Given the description of an element on the screen output the (x, y) to click on. 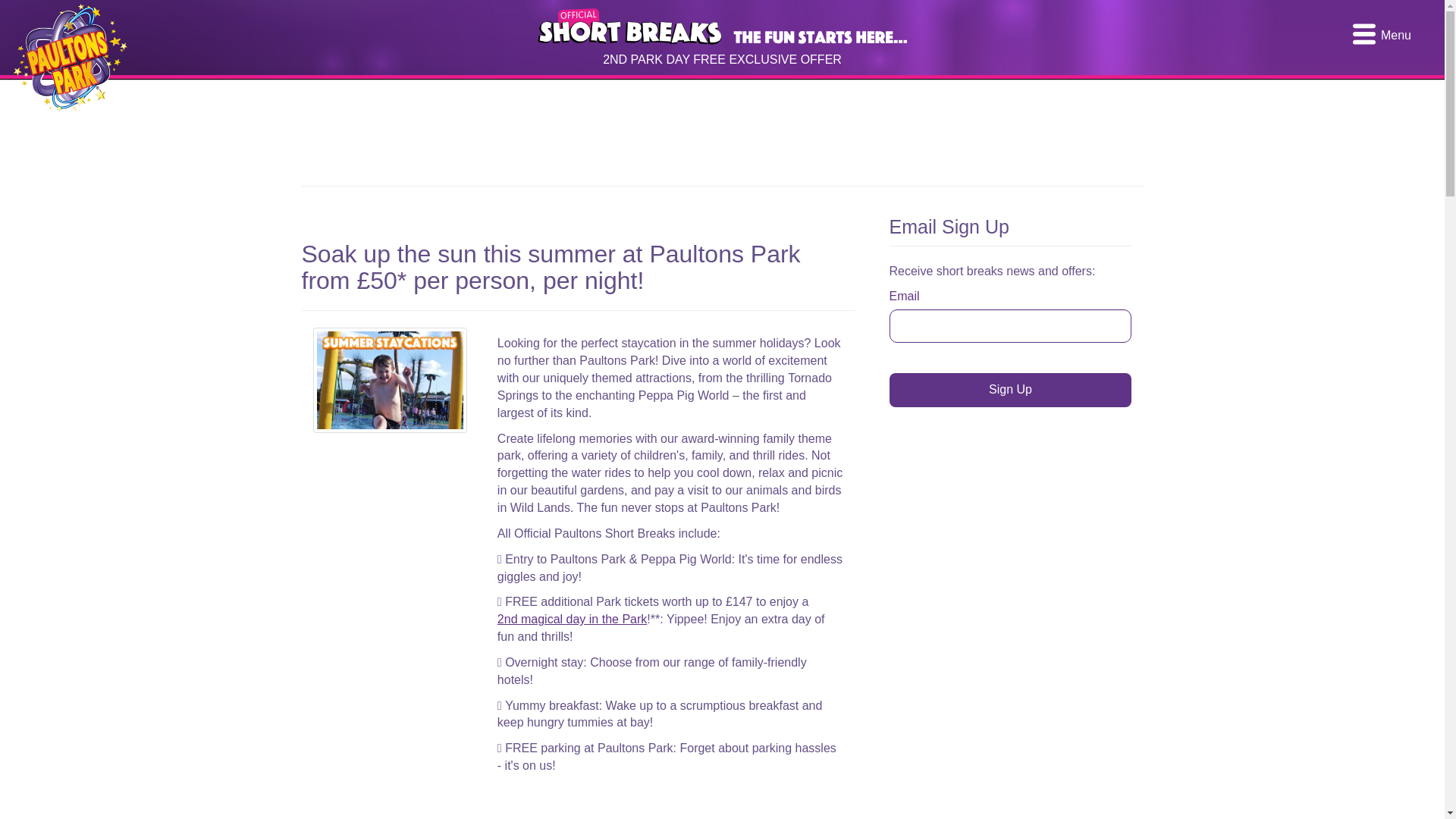
Paultons Breaks (70, 55)
Menu (1383, 35)
2nd magical day in the Park (571, 618)
Sign Up (1009, 390)
